Given the description of an element on the screen output the (x, y) to click on. 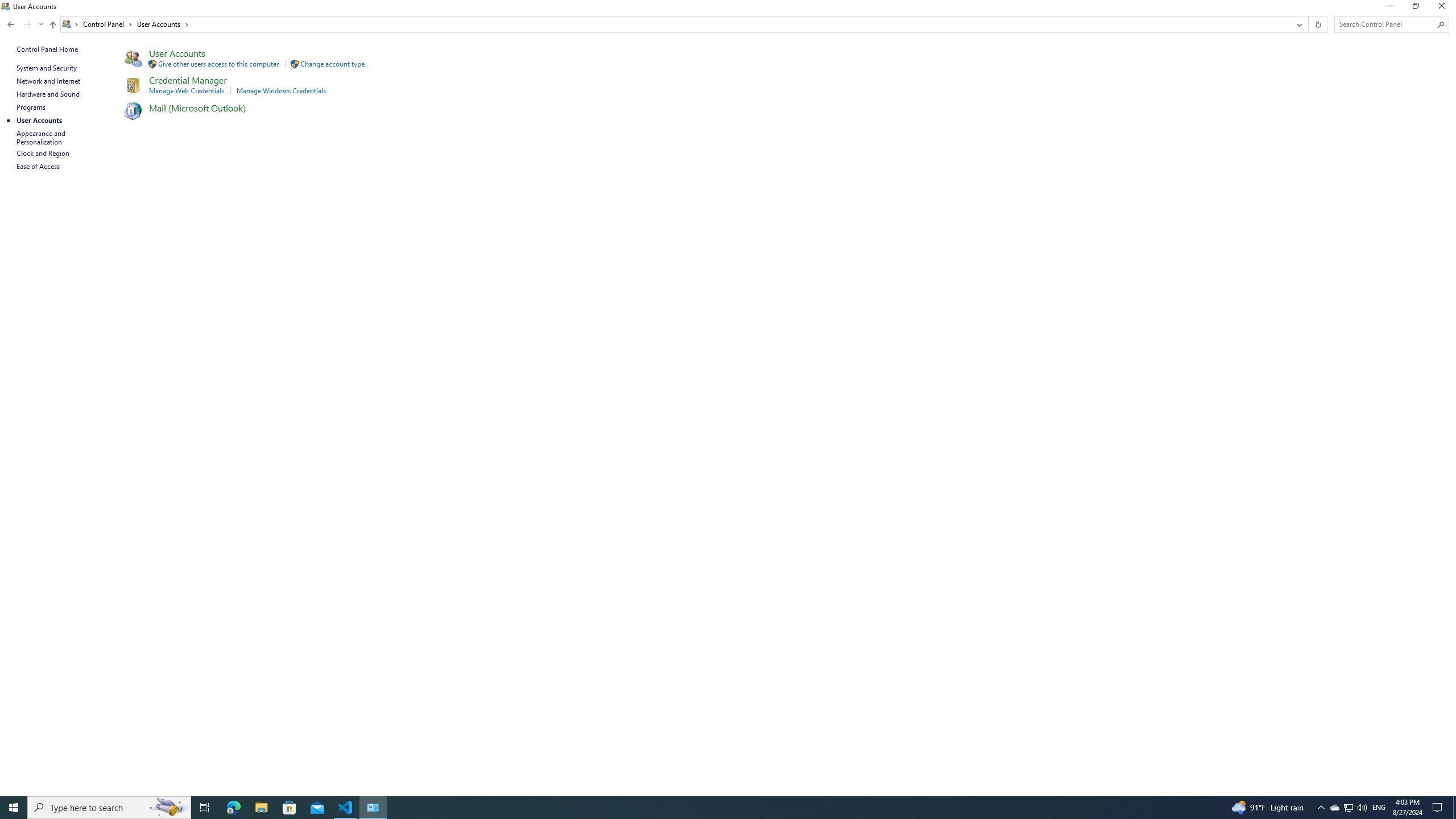
Back to Programs (Alt + Left Arrow) (10, 23)
Clock and Region (42, 153)
Programs (31, 107)
Icon (132, 110)
Control Panel (107, 23)
Control Panel - 1 running window (373, 807)
Icon (293, 63)
Search Box (1386, 23)
Mail (Microsoft Outlook) (197, 107)
Restore (1415, 8)
